Given the description of an element on the screen output the (x, y) to click on. 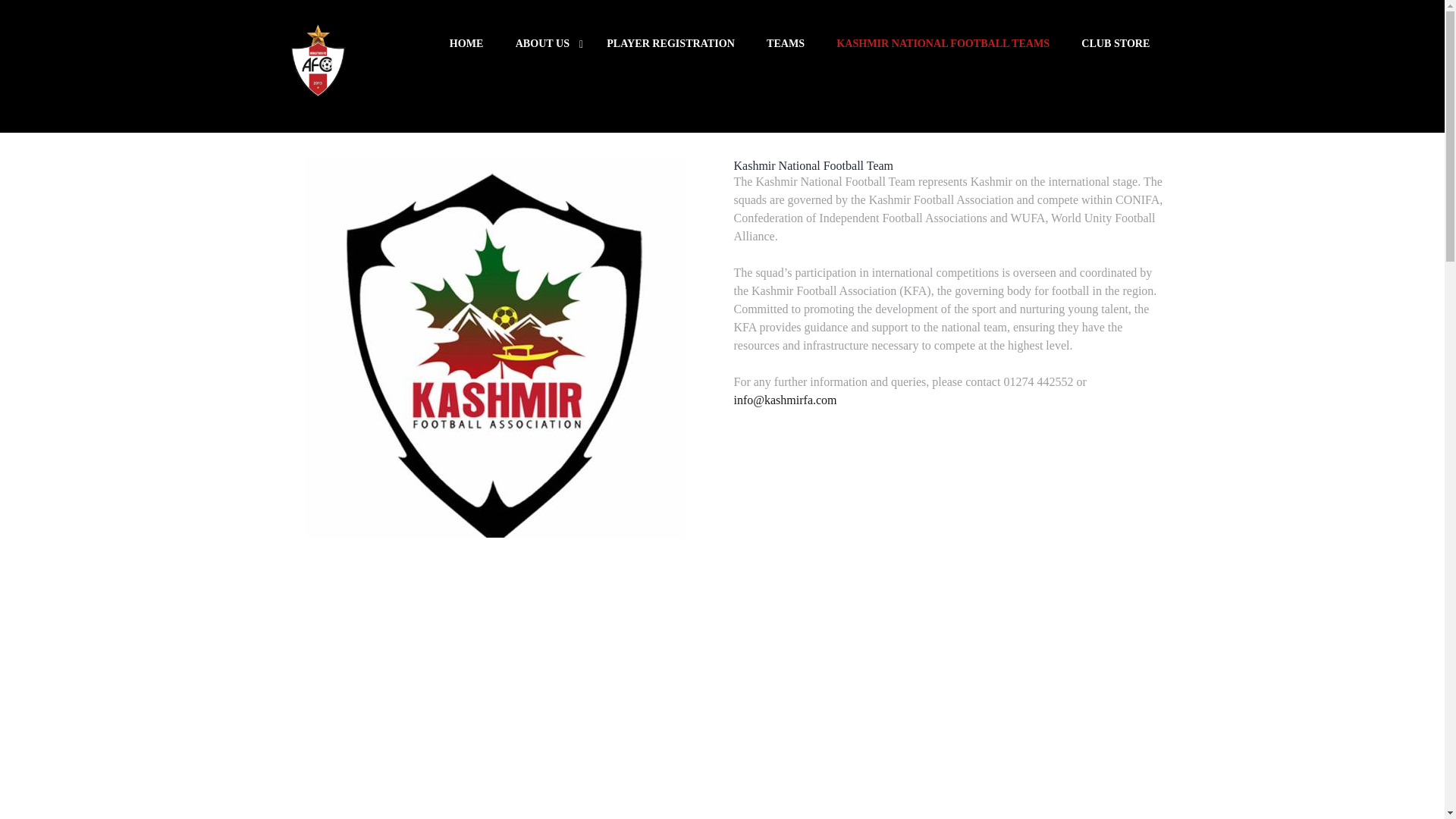
ABOUT US (545, 42)
CLUB STORE (1115, 42)
PLAYER REGISTRATION (671, 42)
HOME (466, 42)
TEAMS (786, 42)
KASHMIR NATIONAL FOOTBALL TEAMS (943, 42)
